Given the description of an element on the screen output the (x, y) to click on. 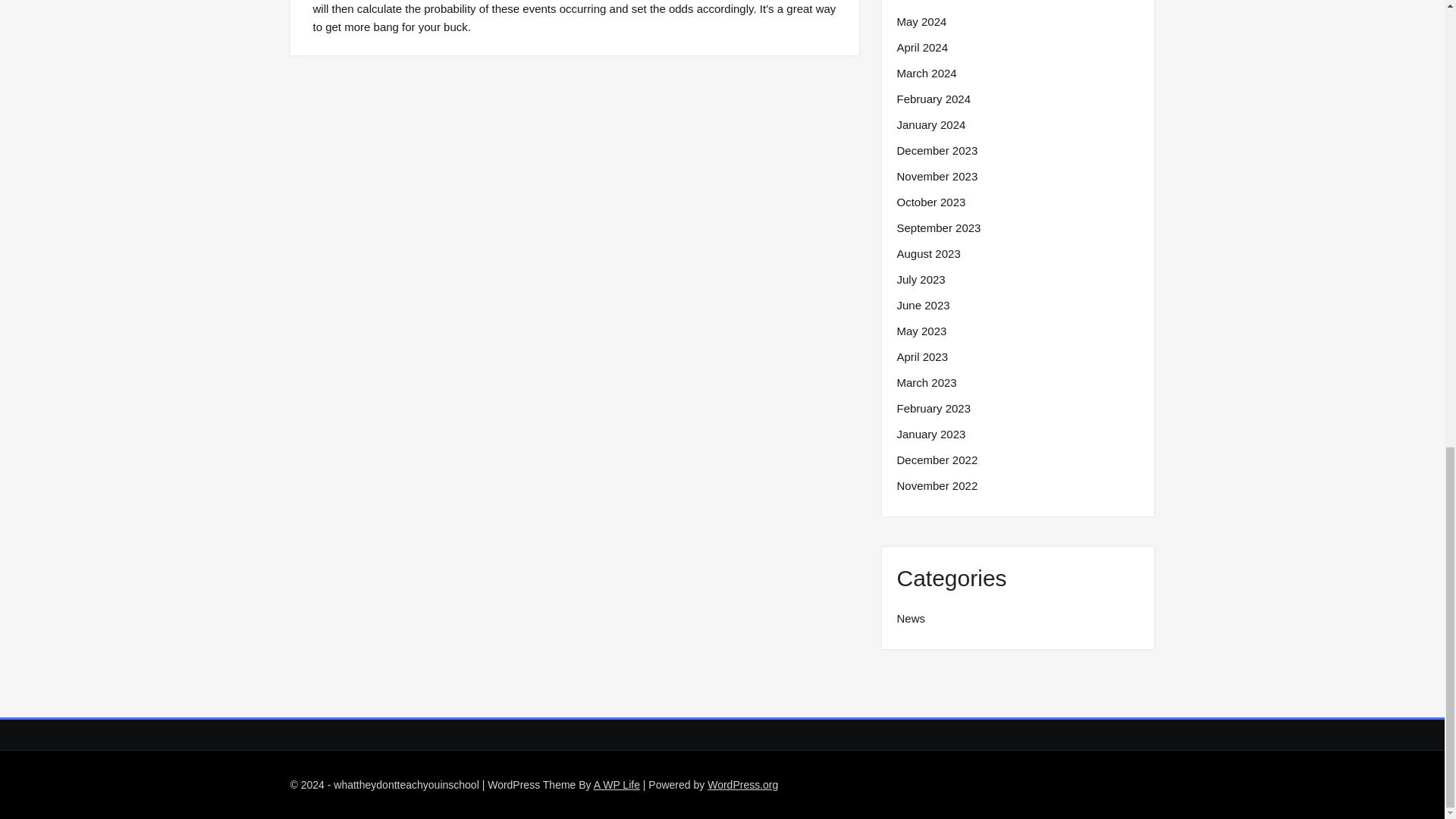
May 2023 (921, 331)
December 2022 (936, 460)
January 2024 (930, 125)
May 2024 (921, 22)
January 2023 (930, 434)
December 2023 (936, 150)
August 2023 (927, 253)
March 2023 (926, 382)
February 2024 (933, 99)
October 2023 (930, 202)
February 2023 (933, 408)
November 2022 (936, 485)
April 2023 (921, 357)
July 2023 (920, 280)
November 2023 (936, 176)
